Given the description of an element on the screen output the (x, y) to click on. 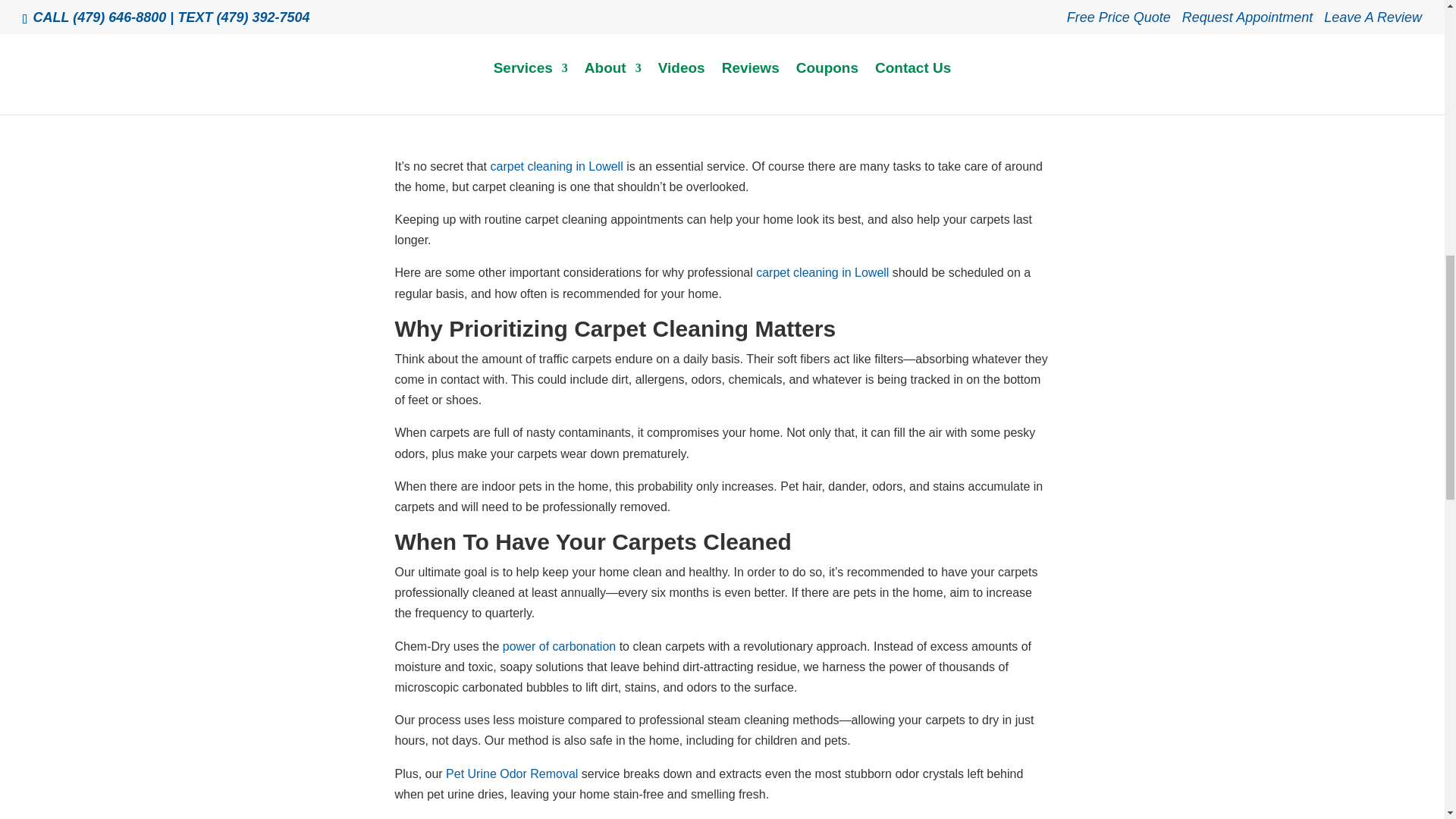
Pet Urine Odor Removal (511, 773)
power of carbonation (558, 645)
carpet cleaning in Lowell (821, 272)
carpet cleaning in Lowell (556, 165)
